Given the description of an element on the screen output the (x, y) to click on. 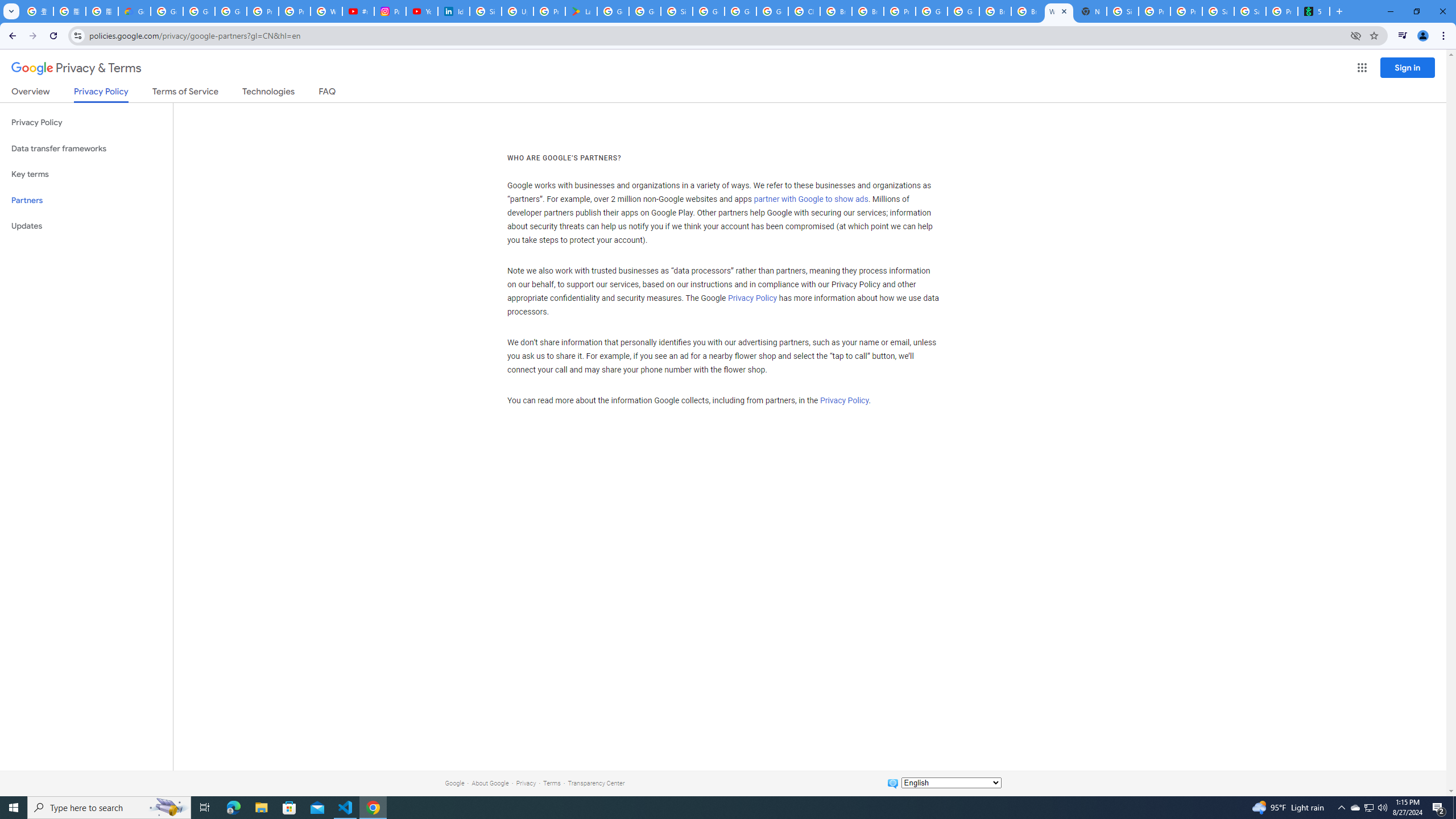
FAQ (327, 93)
Sign in (1407, 67)
Data transfer frameworks (86, 148)
Transparency Center (595, 783)
Terms (551, 783)
Google apps (1362, 67)
Identity verification via Persona | LinkedIn Help (453, 11)
Third-party cookies blocked (1355, 35)
Privacy Help Center - Policies Help (294, 11)
Google Cloud Platform (963, 11)
Terms of Service (184, 93)
